Given the description of an element on the screen output the (x, y) to click on. 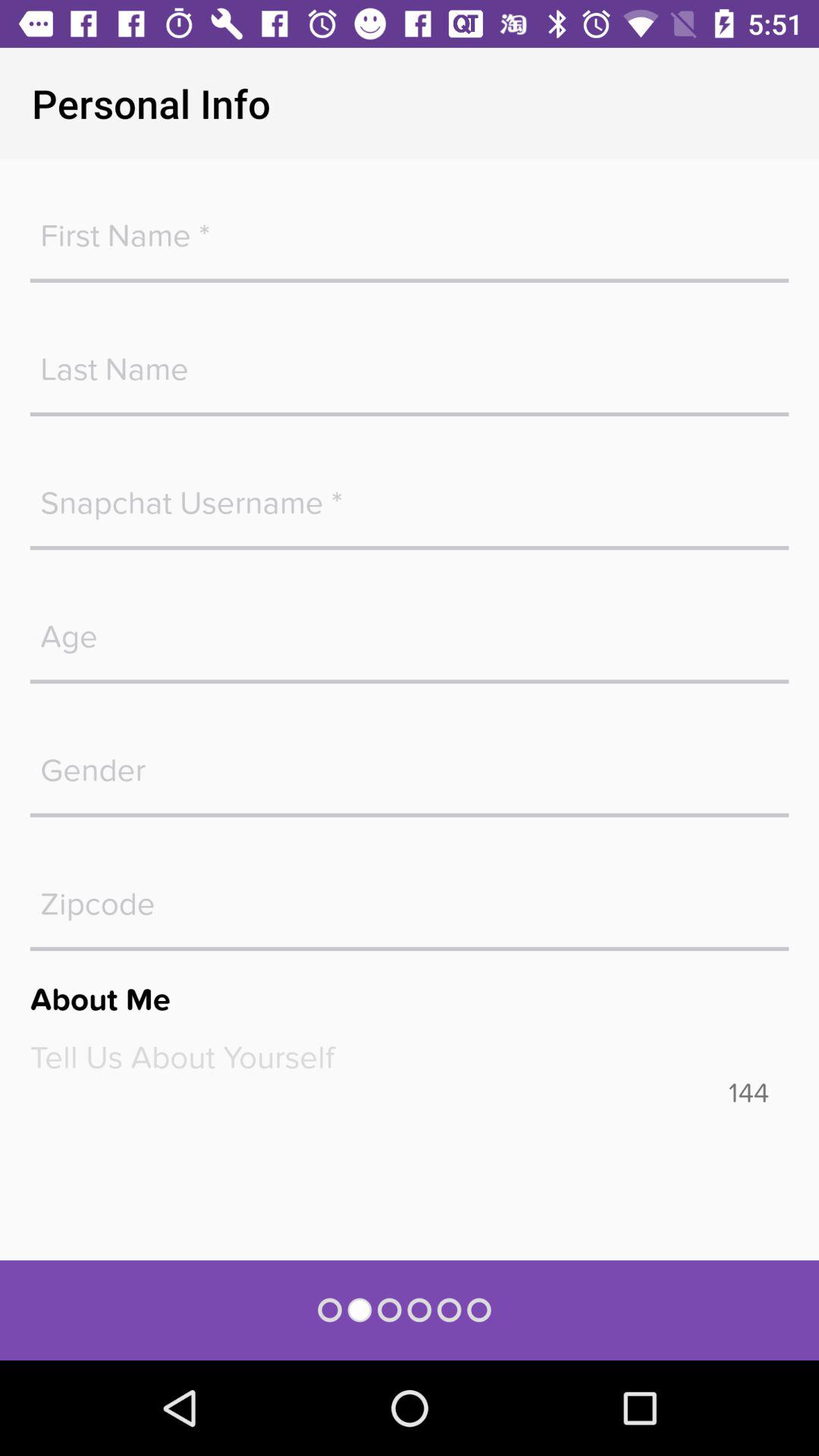
enter text (409, 361)
